Given the description of an element on the screen output the (x, y) to click on. 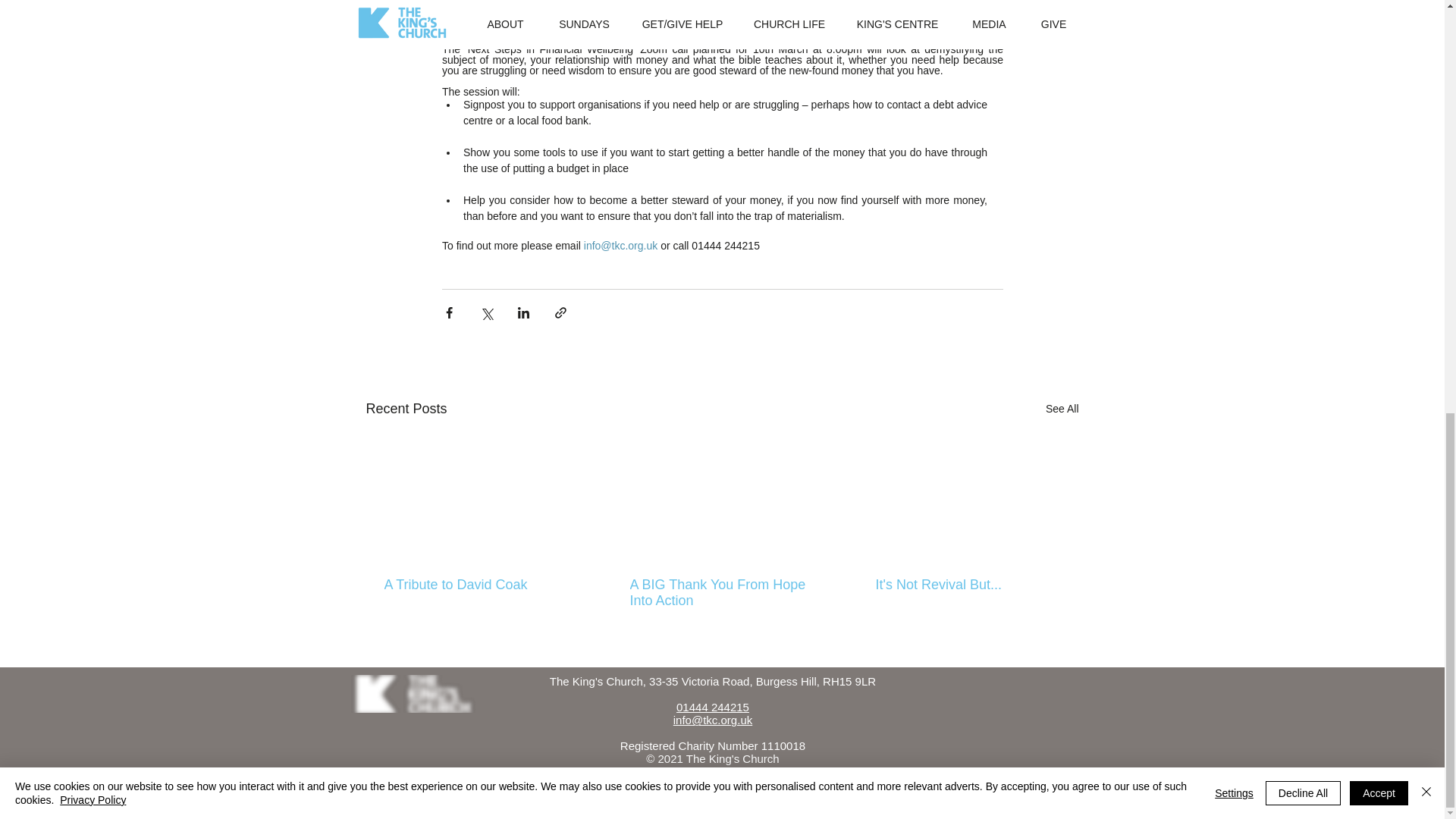
The King's Church (413, 693)
